Given the description of an element on the screen output the (x, y) to click on. 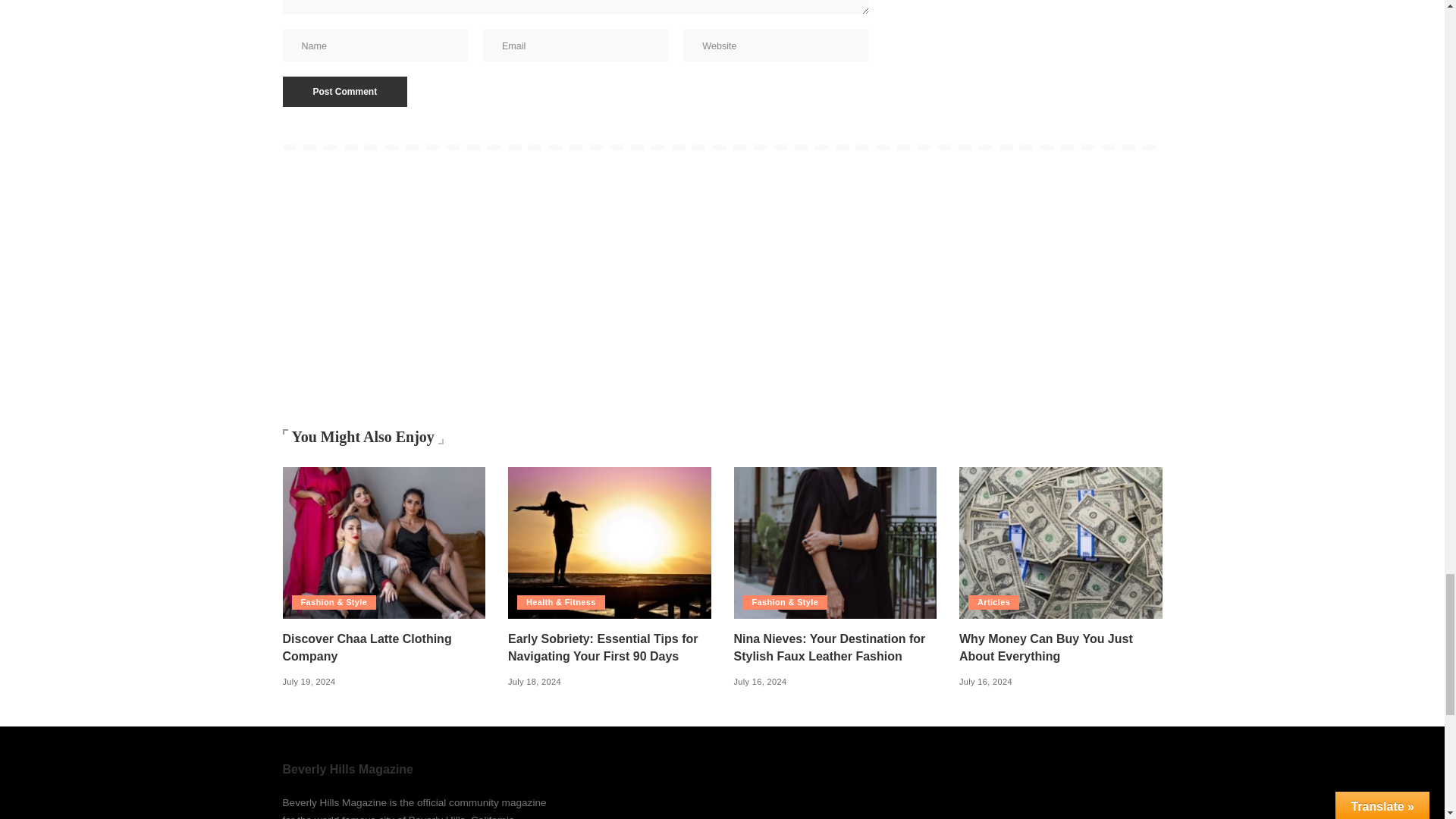
Post Comment (344, 91)
